Given the description of an element on the screen output the (x, y) to click on. 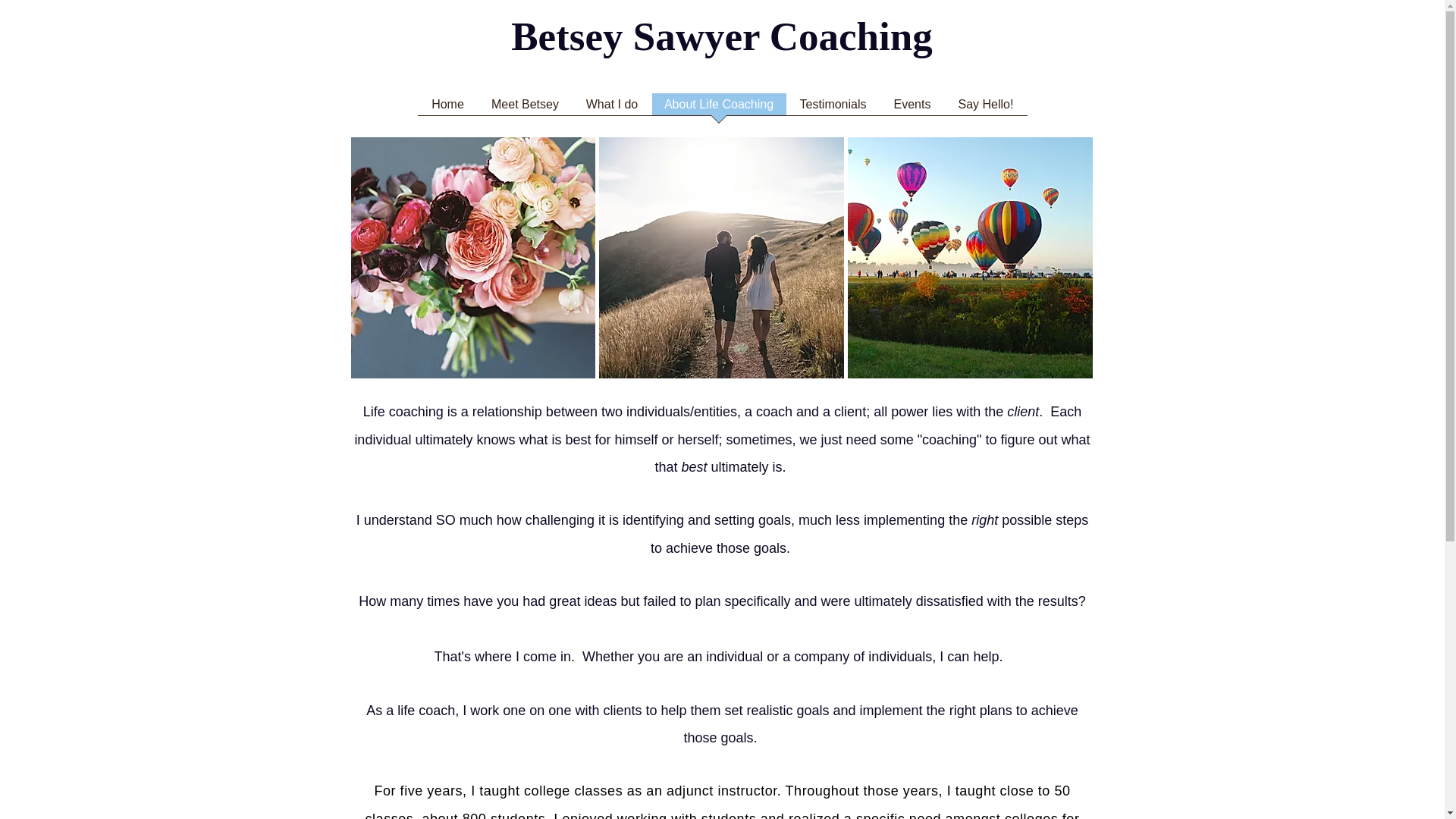
Say Hello! (985, 109)
Meet Betsey (524, 109)
Testimonials (832, 109)
Home (446, 109)
About Life Coaching (719, 109)
Events (911, 109)
What I do (611, 109)
